Given the description of an element on the screen output the (x, y) to click on. 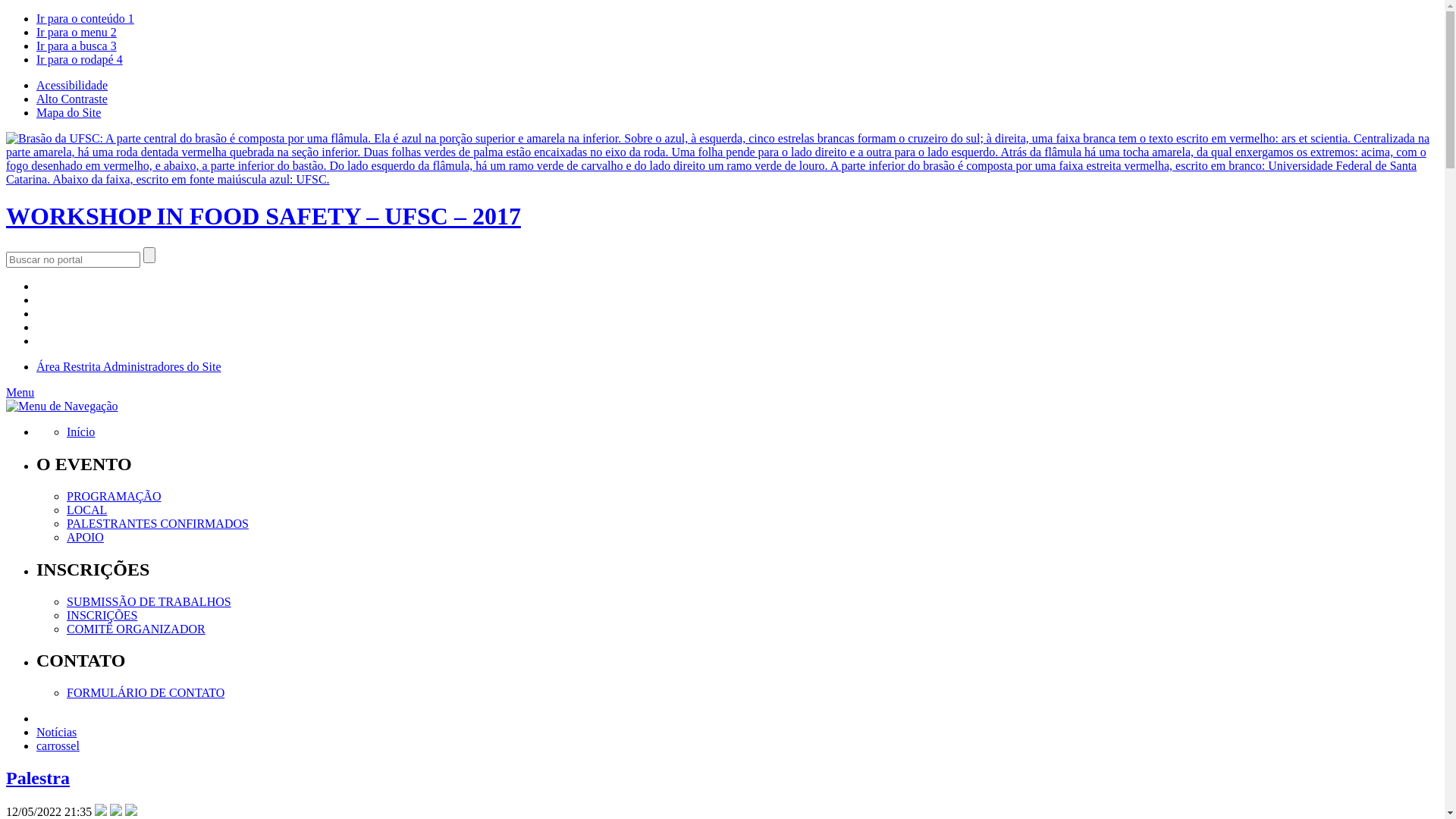
Compartilhar no WhatsApp Element type: hover (131, 811)
Ir para a busca 3 Element type: text (76, 45)
APOIO Element type: text (84, 536)
Palestra Element type: text (37, 777)
PALESTRANTES CONFIRMADOS Element type: text (157, 523)
Mapa do Site Element type: text (68, 112)
Menu Element type: text (20, 391)
LOCAL Element type: text (86, 509)
Compartilhar no Facebook Element type: hover (115, 811)
Acessibilidade Element type: text (71, 84)
Administradores do Site Element type: text (162, 366)
Ir para o menu 2 Element type: text (76, 31)
carrossel Element type: text (57, 745)
Compartilhar no Twitter Element type: hover (100, 811)
Alto Contraste Element type: text (71, 98)
